Given the description of an element on the screen output the (x, y) to click on. 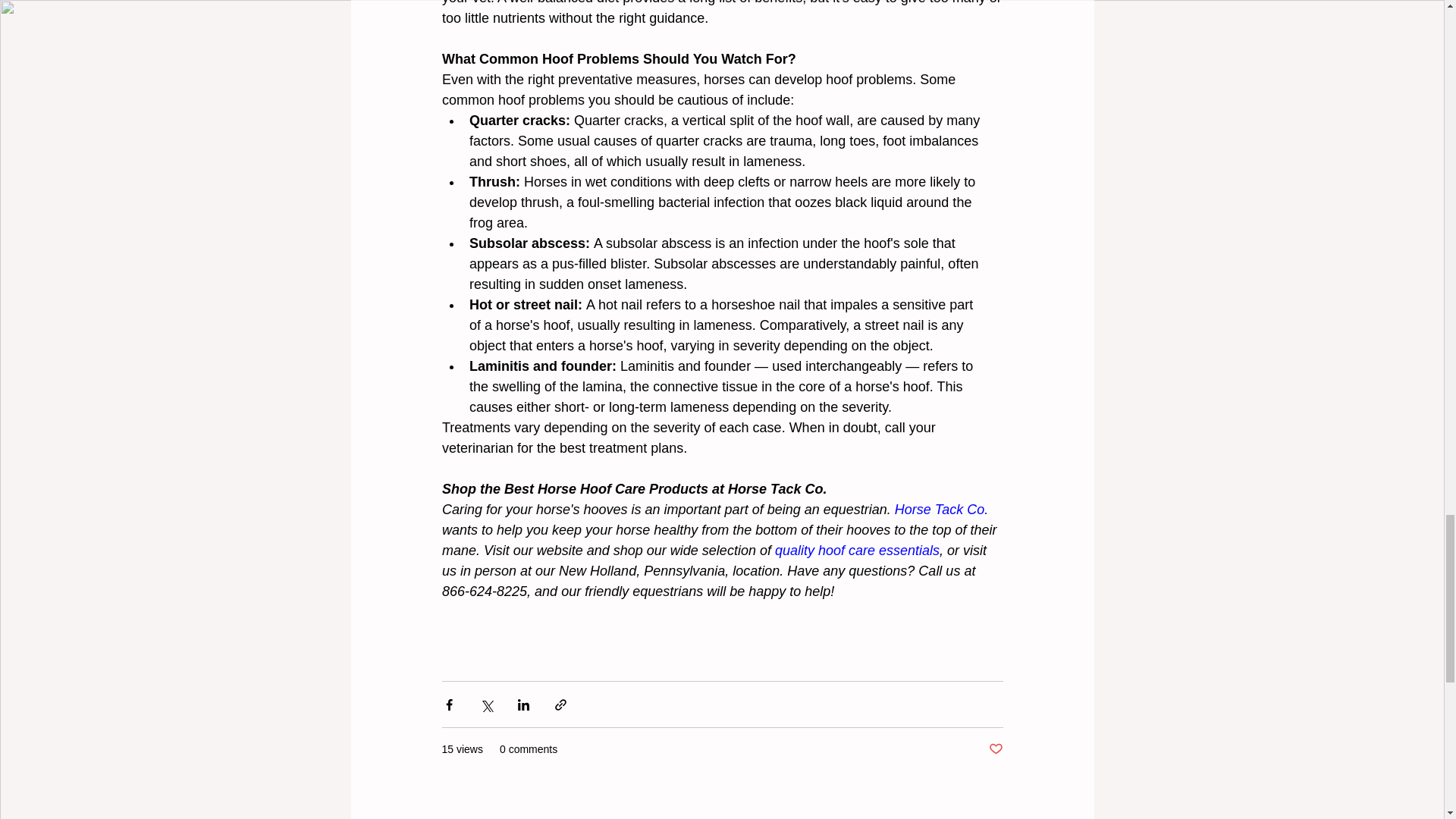
quality hoof care essentials (856, 549)
Horse Tack Co. (940, 509)
depending on the severity (621, 427)
Post not marked as liked (995, 749)
